Given the description of an element on the screen output the (x, y) to click on. 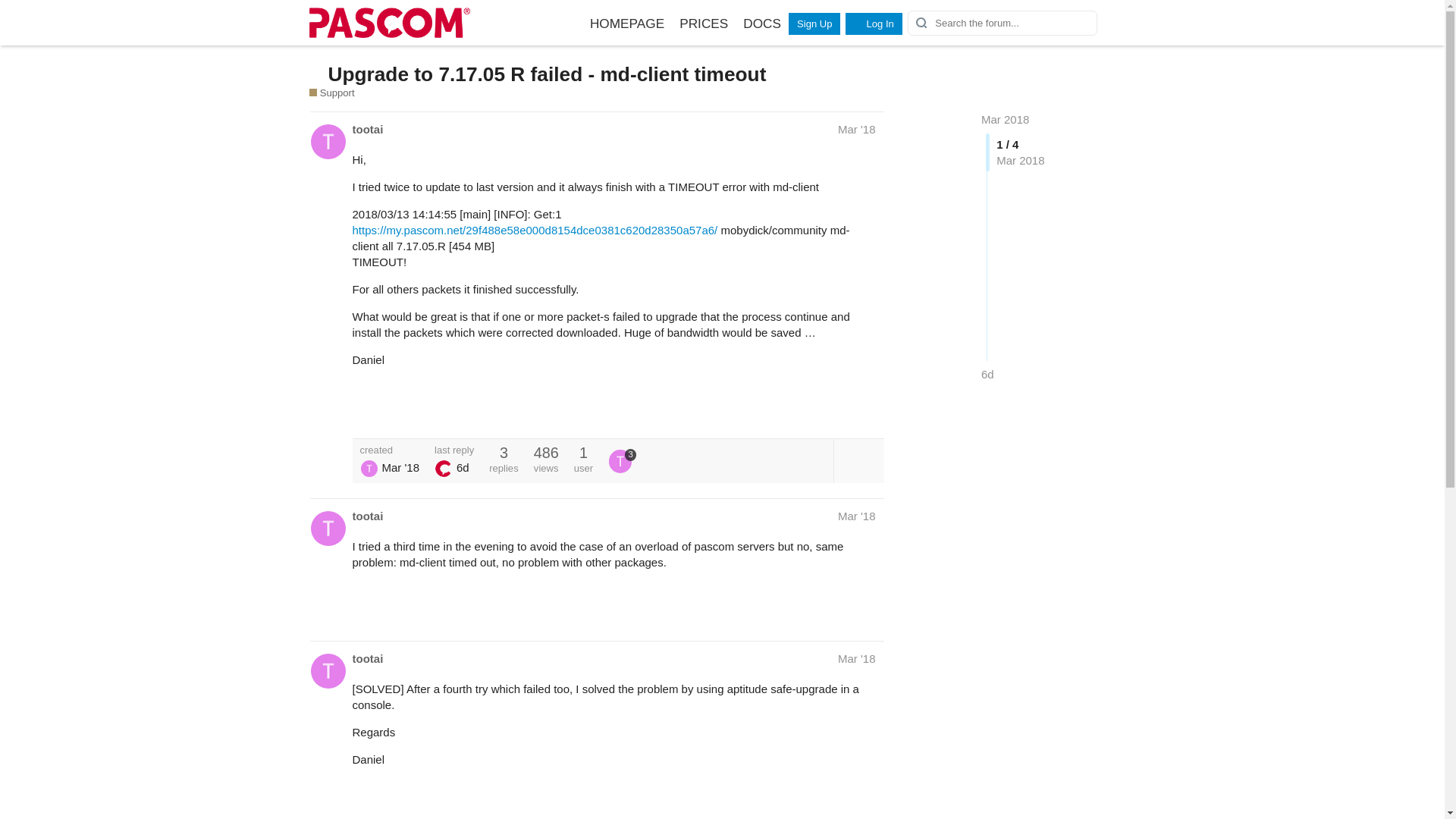
copy a link to this post to clipboard (869, 410)
This topic is closed; it no longer accepts new replies (316, 73)
Log In (873, 24)
Mar 2018 (1005, 119)
Mar '18 (857, 515)
like this post (836, 410)
Mar '18 (857, 128)
Mar '18 (857, 658)
PRICES (703, 23)
Mar 2018 (1005, 119)
DOCS (762, 23)
Post date (857, 128)
expand topic details (857, 460)
Jul 13, 2024 3:26 pm (987, 373)
